Given the description of an element on the screen output the (x, y) to click on. 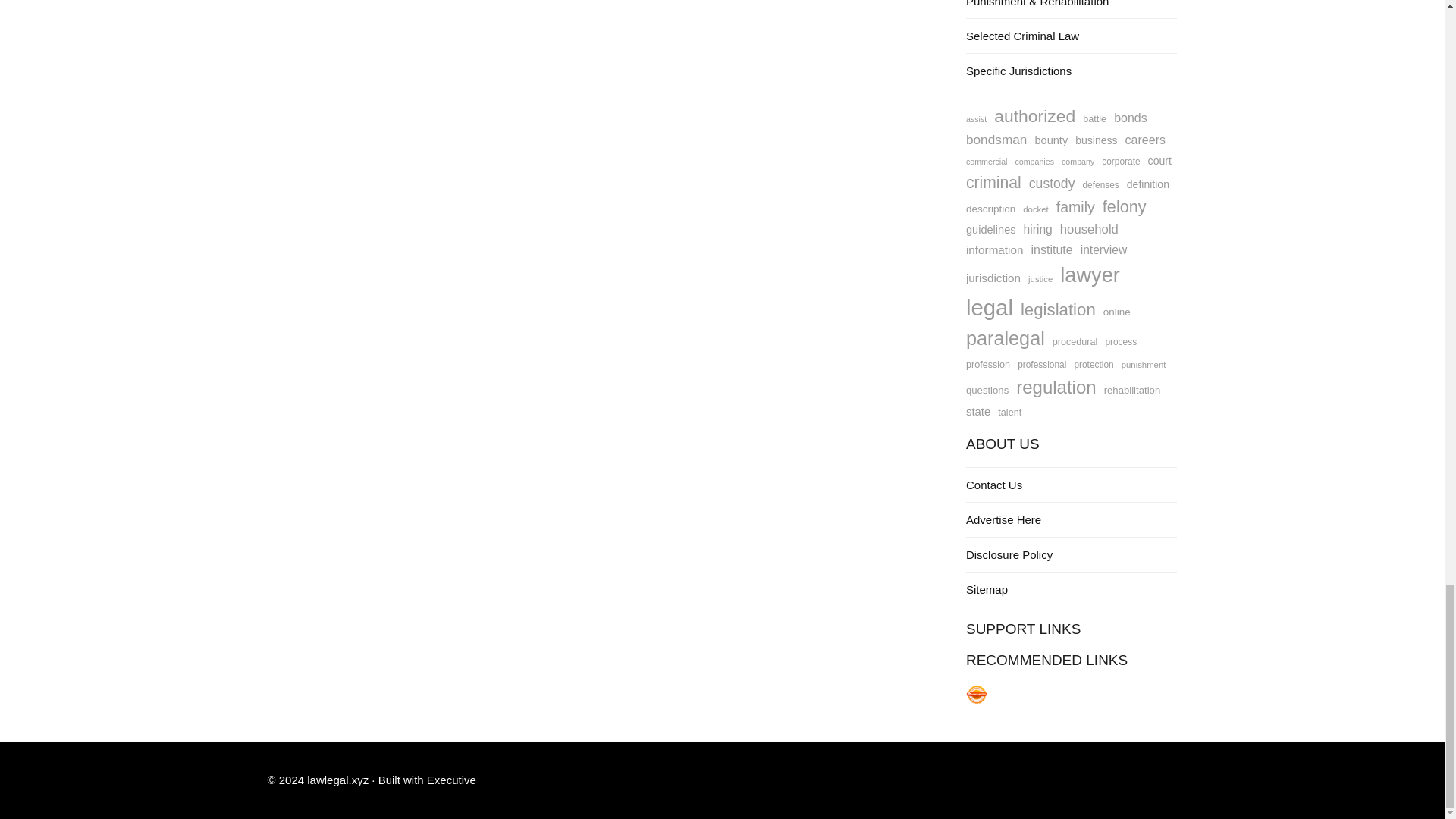
lawlegal.xyz (337, 779)
Seedbacklink (976, 694)
